Given the description of an element on the screen output the (x, y) to click on. 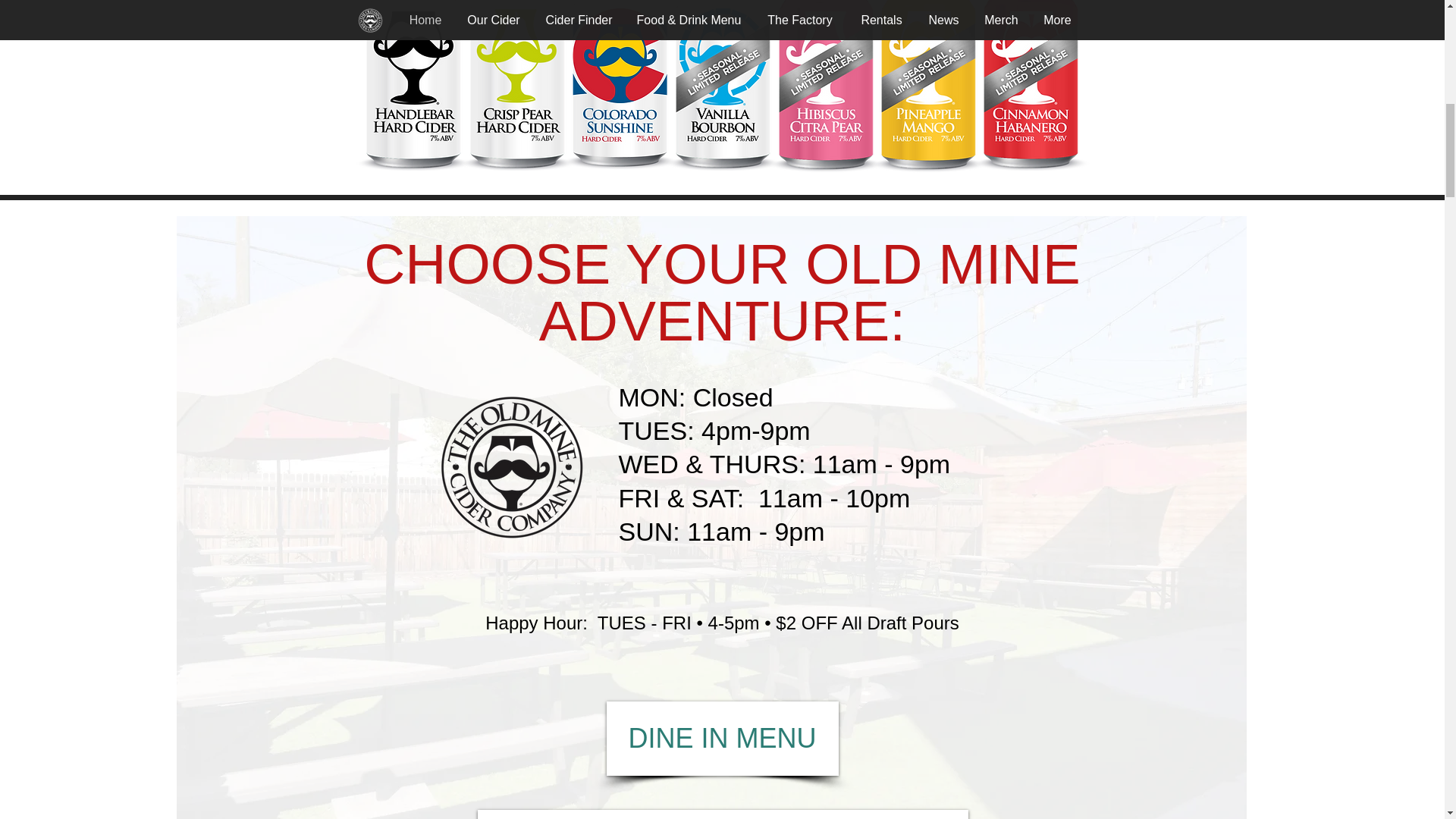
DINE IN MENU (722, 738)
